Given the description of an element on the screen output the (x, y) to click on. 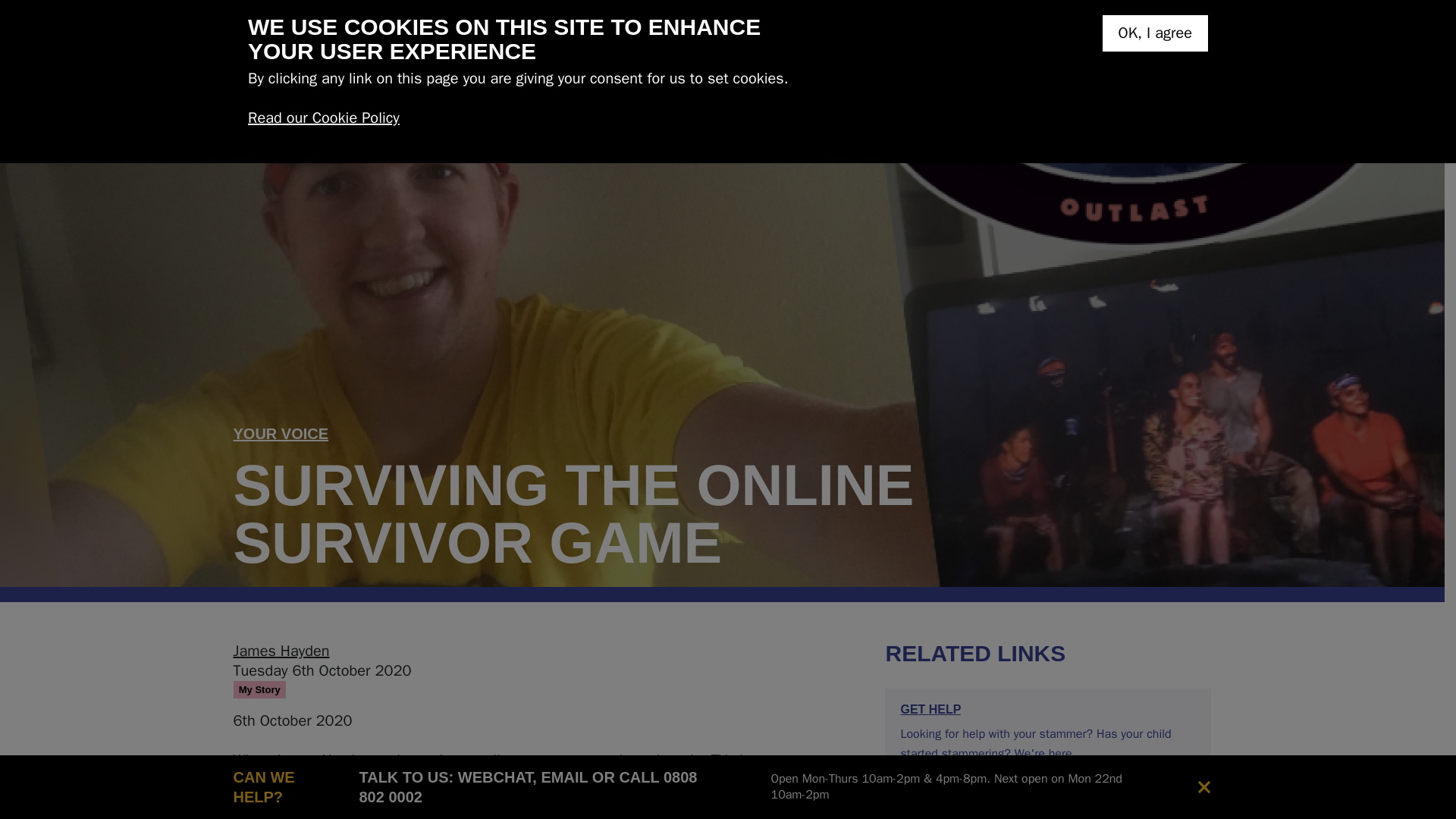
Donate towards our efforts (1094, 35)
Shop (1160, 35)
Skip to main content (74, 12)
ABOUT STAMMERING (552, 88)
Information about stammering (552, 88)
GIVE (1094, 35)
Home (321, 35)
OK, I agree (1155, 33)
Shop (1160, 35)
Read our Cookie Policy (322, 117)
Search (1199, 35)
Search our website (1199, 35)
